Given the description of an element on the screen output the (x, y) to click on. 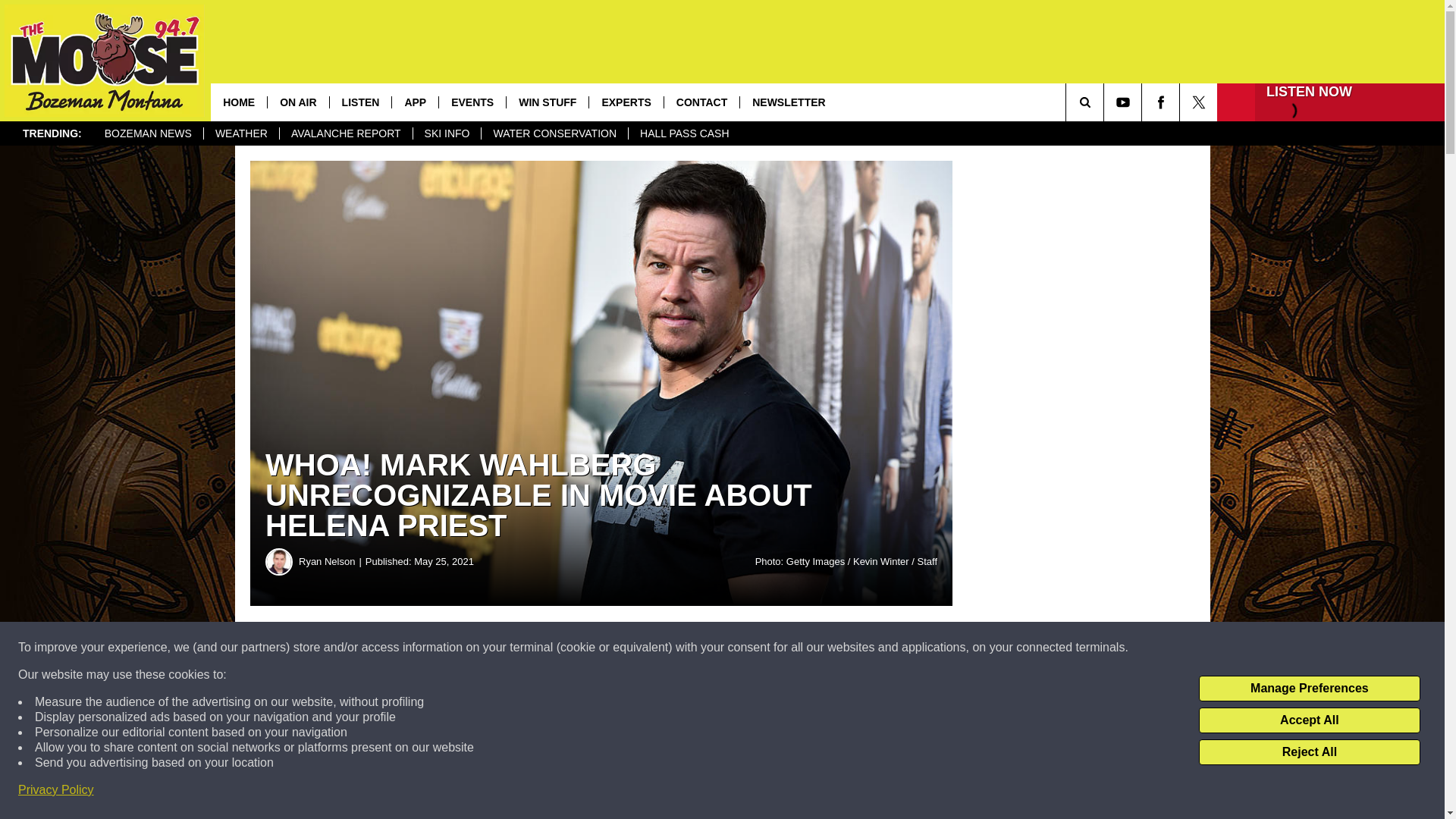
SEARCH (1106, 102)
HOME (238, 102)
EVENTS (471, 102)
APP (414, 102)
EXPERTS (625, 102)
Privacy Policy (55, 789)
WEATHER (241, 133)
TRENDING: (52, 133)
BOZEMAN NEWS (148, 133)
CONTACT (701, 102)
Share on Facebook (460, 647)
SEARCH (1106, 102)
Share on Twitter (741, 647)
WATER CONSERVATION (553, 133)
Manage Preferences (1309, 688)
